Given the description of an element on the screen output the (x, y) to click on. 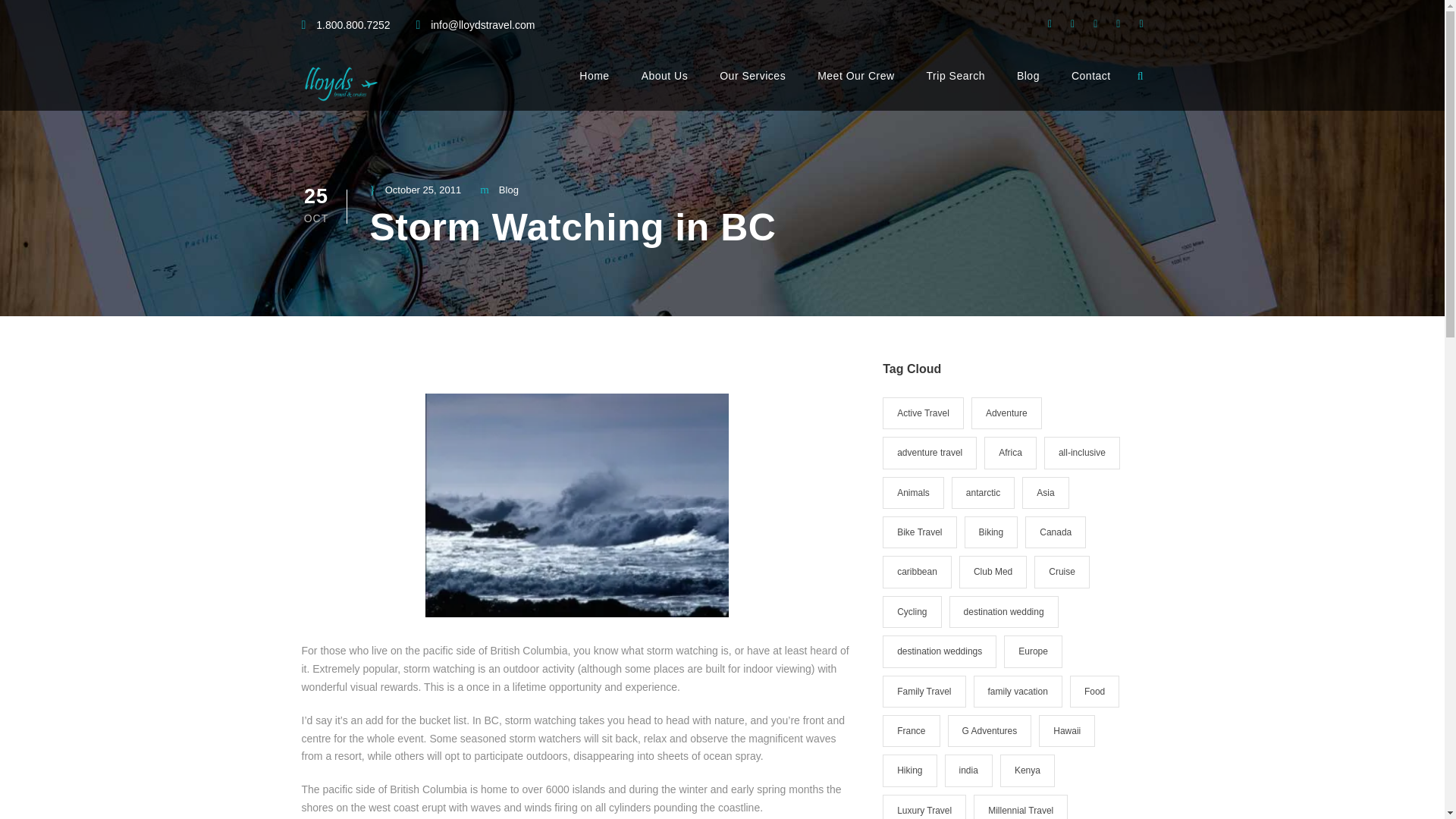
Blog (508, 189)
Our Services (752, 88)
Contact (1090, 88)
Trip Search (955, 88)
October 25, 2011 (423, 189)
1.800.800.7252 (352, 24)
About Us (665, 88)
Meet Our Crew (854, 88)
